Given the description of an element on the screen output the (x, y) to click on. 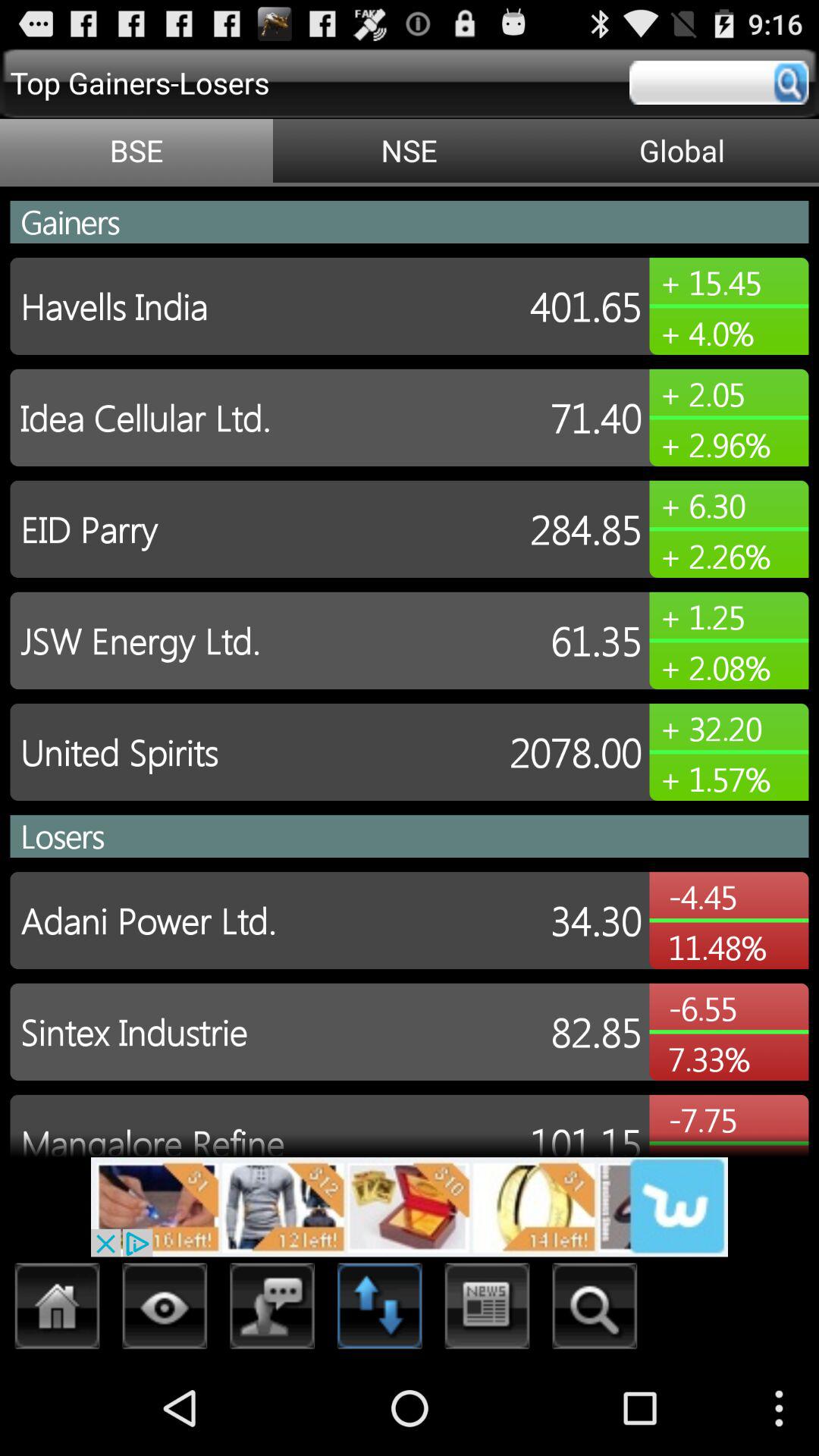
search (594, 1310)
